Given the description of an element on the screen output the (x, y) to click on. 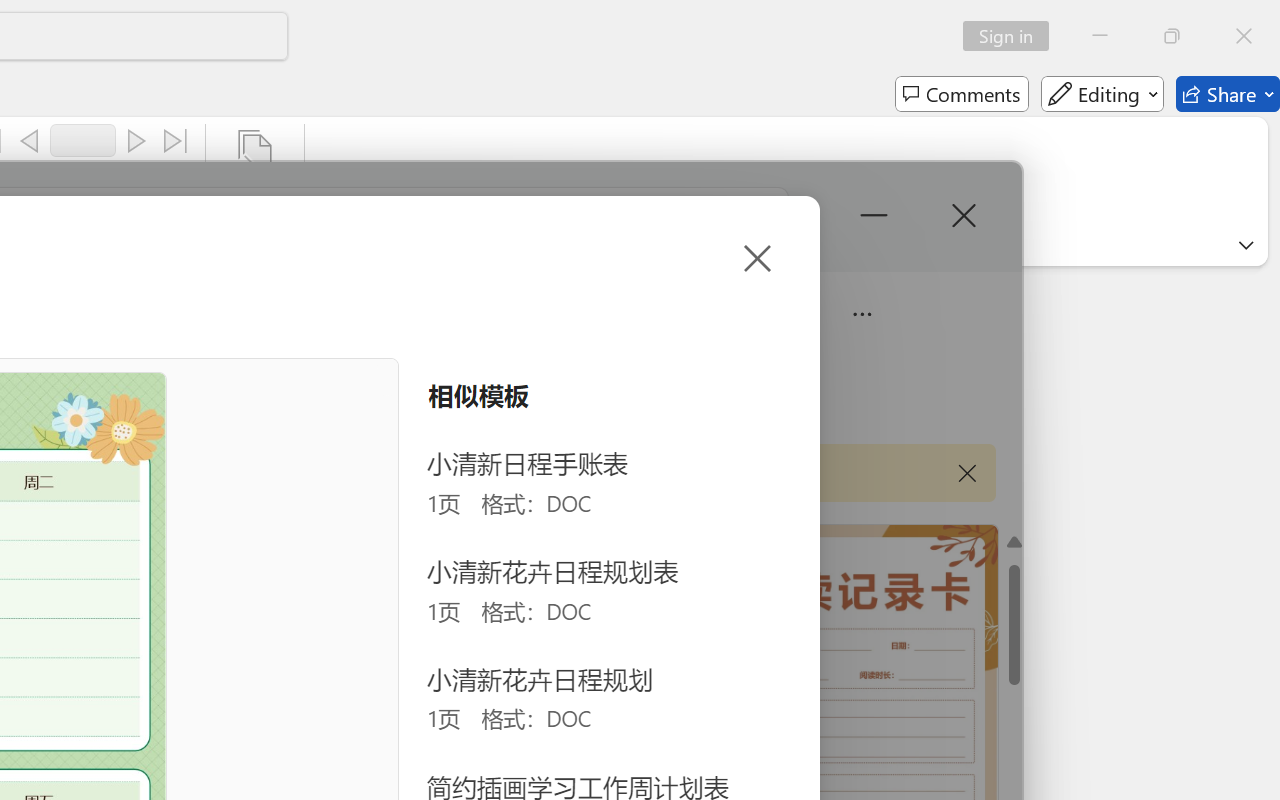
Sign in (1012, 35)
Last (175, 141)
Previous (29, 141)
Record (83, 140)
Next (136, 141)
Editing (1101, 94)
